Given the description of an element on the screen output the (x, y) to click on. 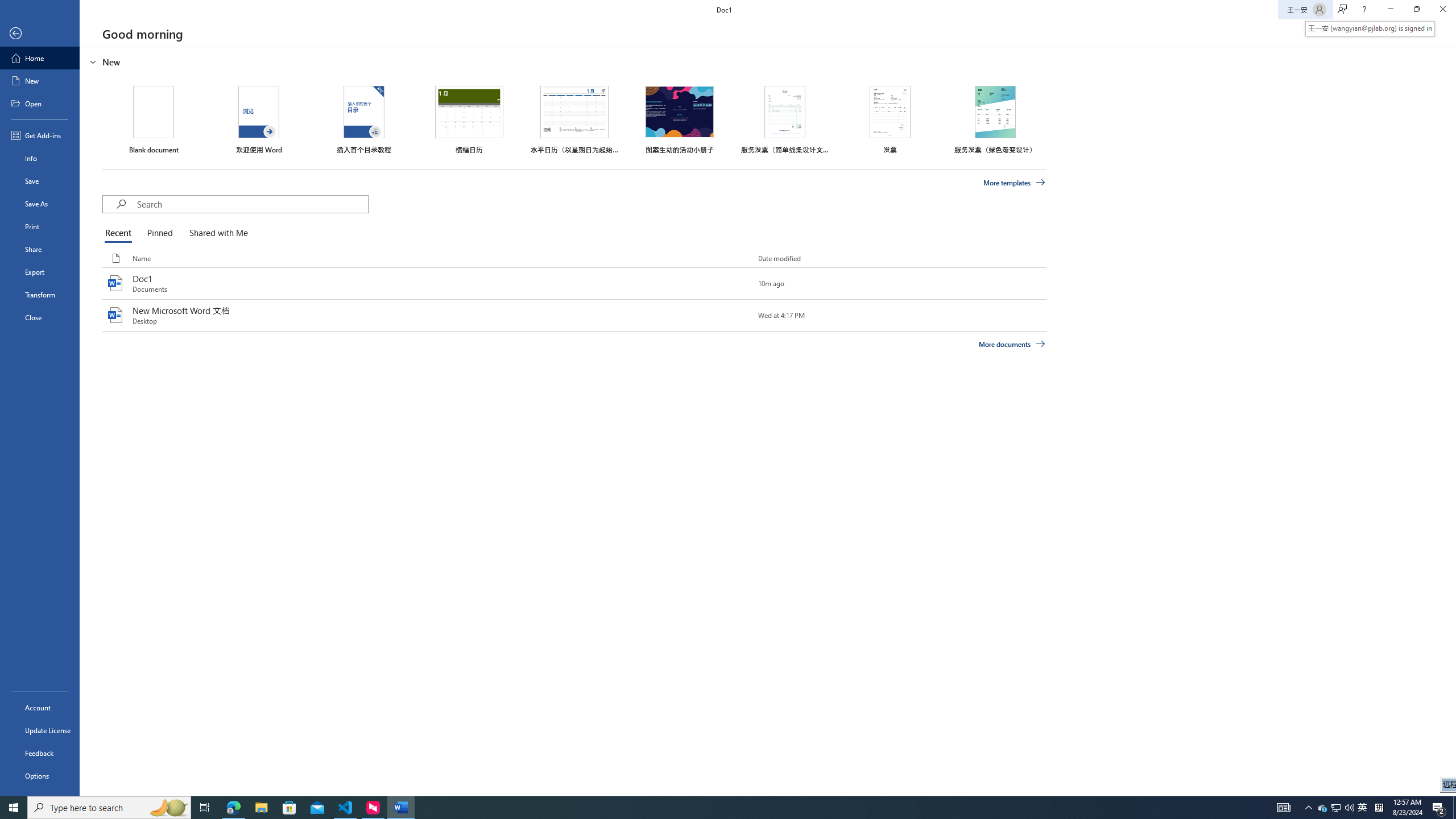
New (40, 80)
Recent (119, 233)
Options (40, 775)
Blank document (153, 119)
Update License (40, 730)
